Given the description of an element on the screen output the (x, y) to click on. 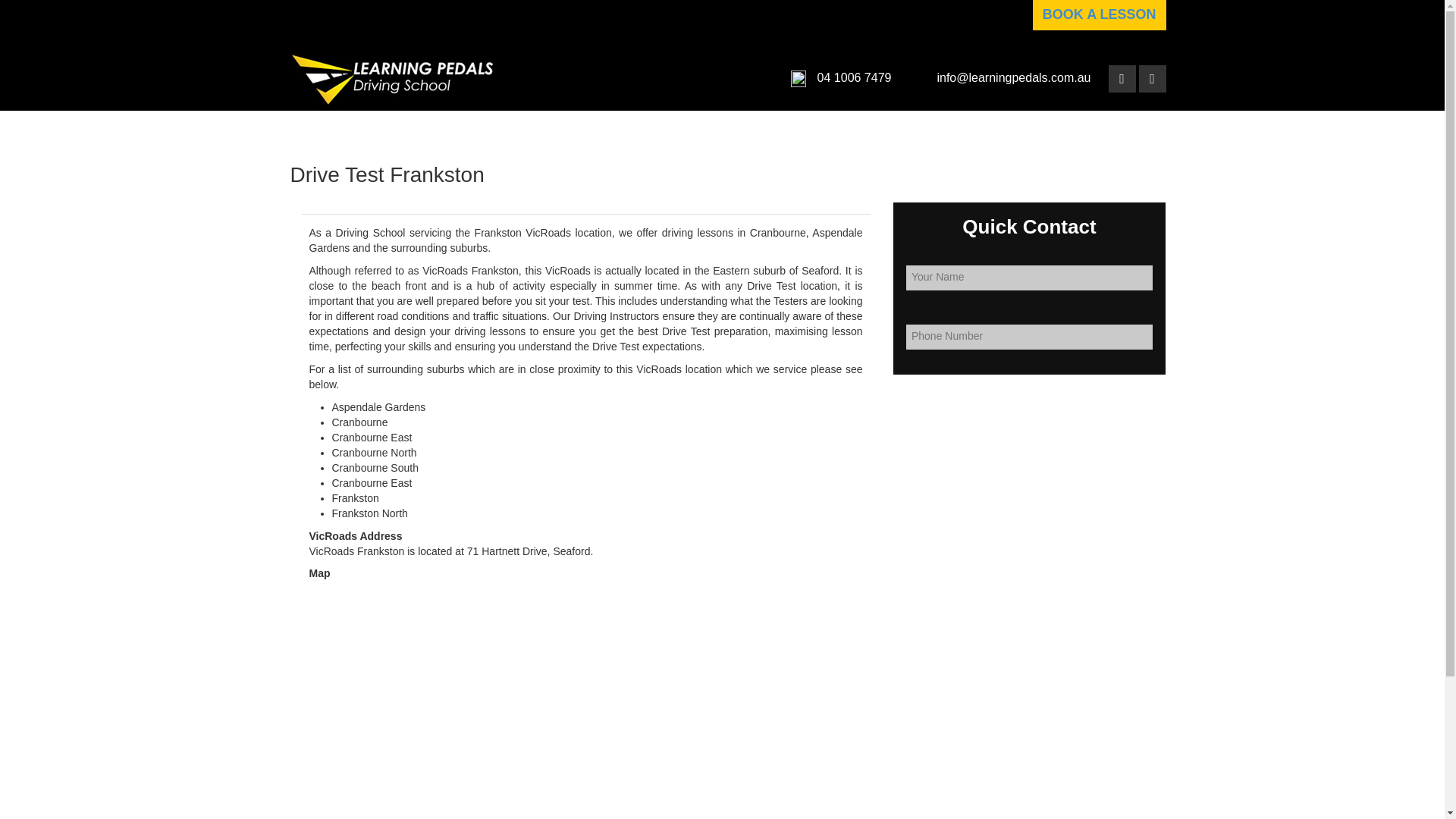
About us (556, 129)
PRICES AND PACKAGES (949, 129)
04 1006 7479 (852, 77)
BOOK A LESSON (1099, 15)
Home (496, 129)
Send (18, 9)
SUBURBS AND TESTING AREAS (792, 129)
BOOKING (1052, 129)
CONTACT US (1125, 129)
Driving Lessons (648, 129)
DRIVING LESSONS (648, 129)
ABOUT US (556, 129)
Suburbs and Testing Areas (792, 129)
HOME (496, 129)
